Given the description of an element on the screen output the (x, y) to click on. 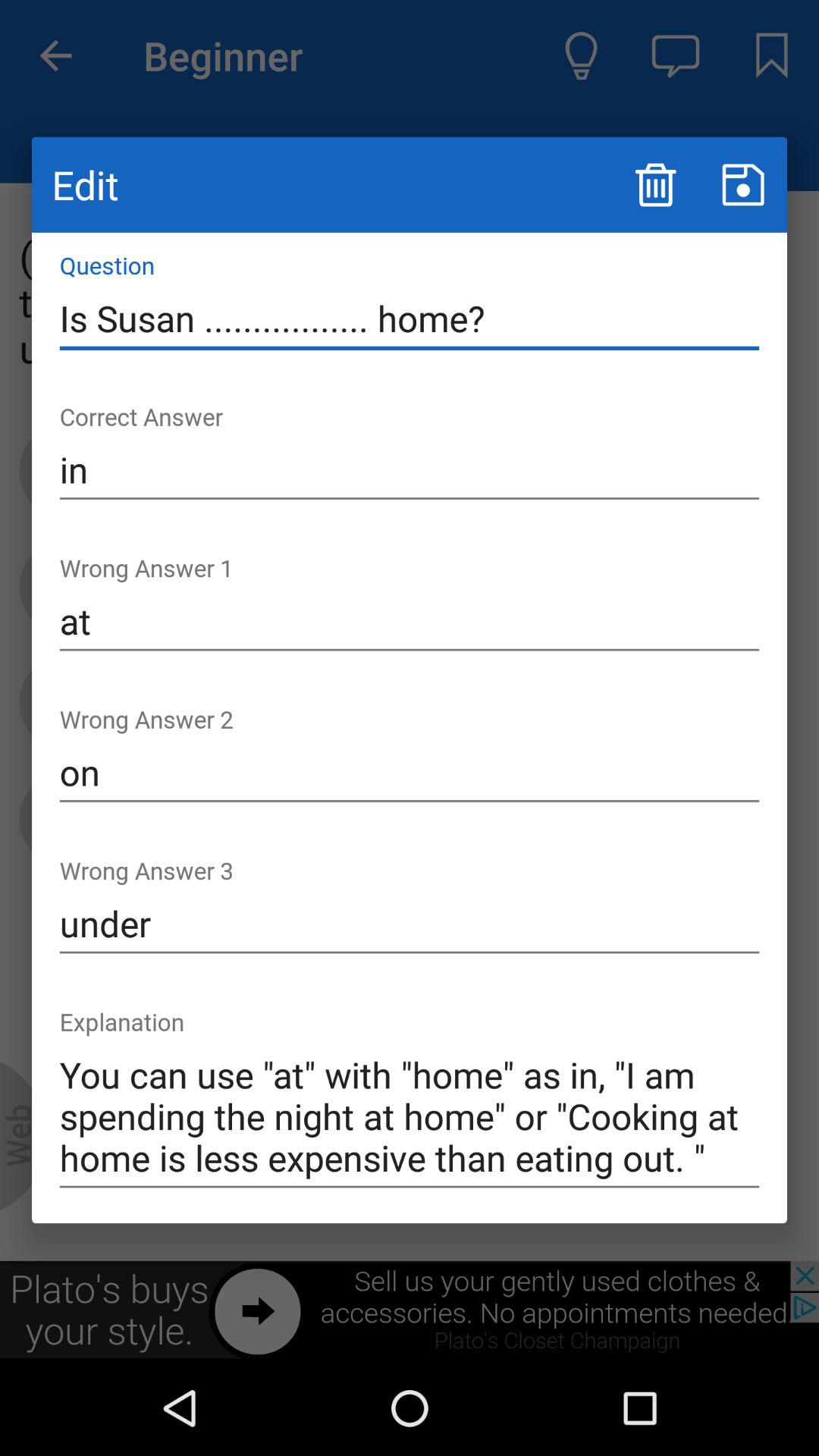
jump to under icon (409, 924)
